Given the description of an element on the screen output the (x, y) to click on. 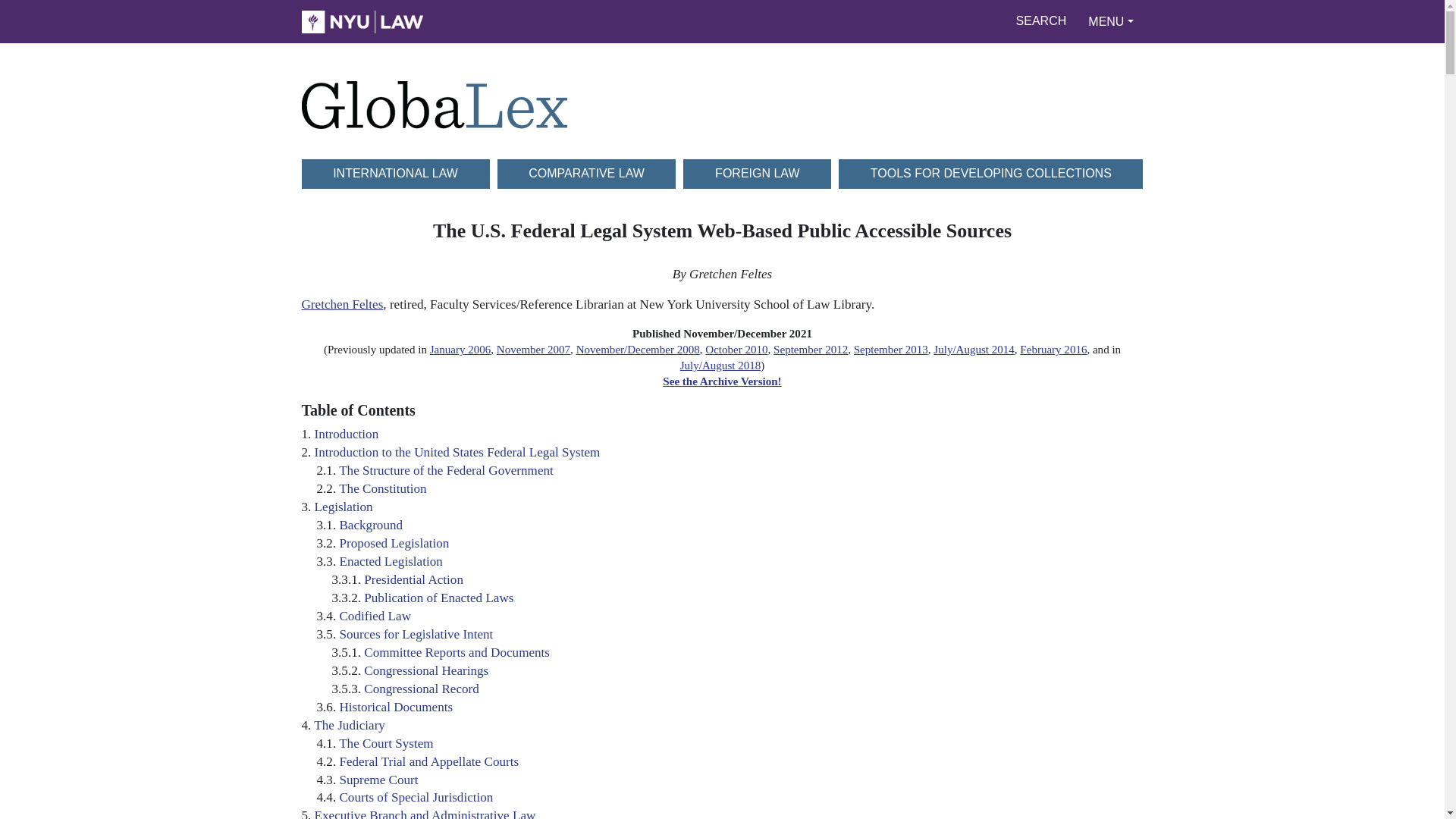
The Constitution (382, 488)
February 2016 (1053, 349)
Introduction to the United States Federal Legal System (456, 452)
September 2012 (810, 349)
Congressional Hearings (425, 670)
COMPARATIVE LAW (587, 173)
See the Archive Version! (721, 381)
September 2013 (890, 349)
MENU (1110, 21)
Gretchen Feltes (342, 304)
Publication of Enacted Laws (438, 597)
FOREIGN LAW (756, 173)
Introduction (346, 433)
Proposed Legislation (393, 543)
Codified Law (374, 616)
